Given the description of an element on the screen output the (x, y) to click on. 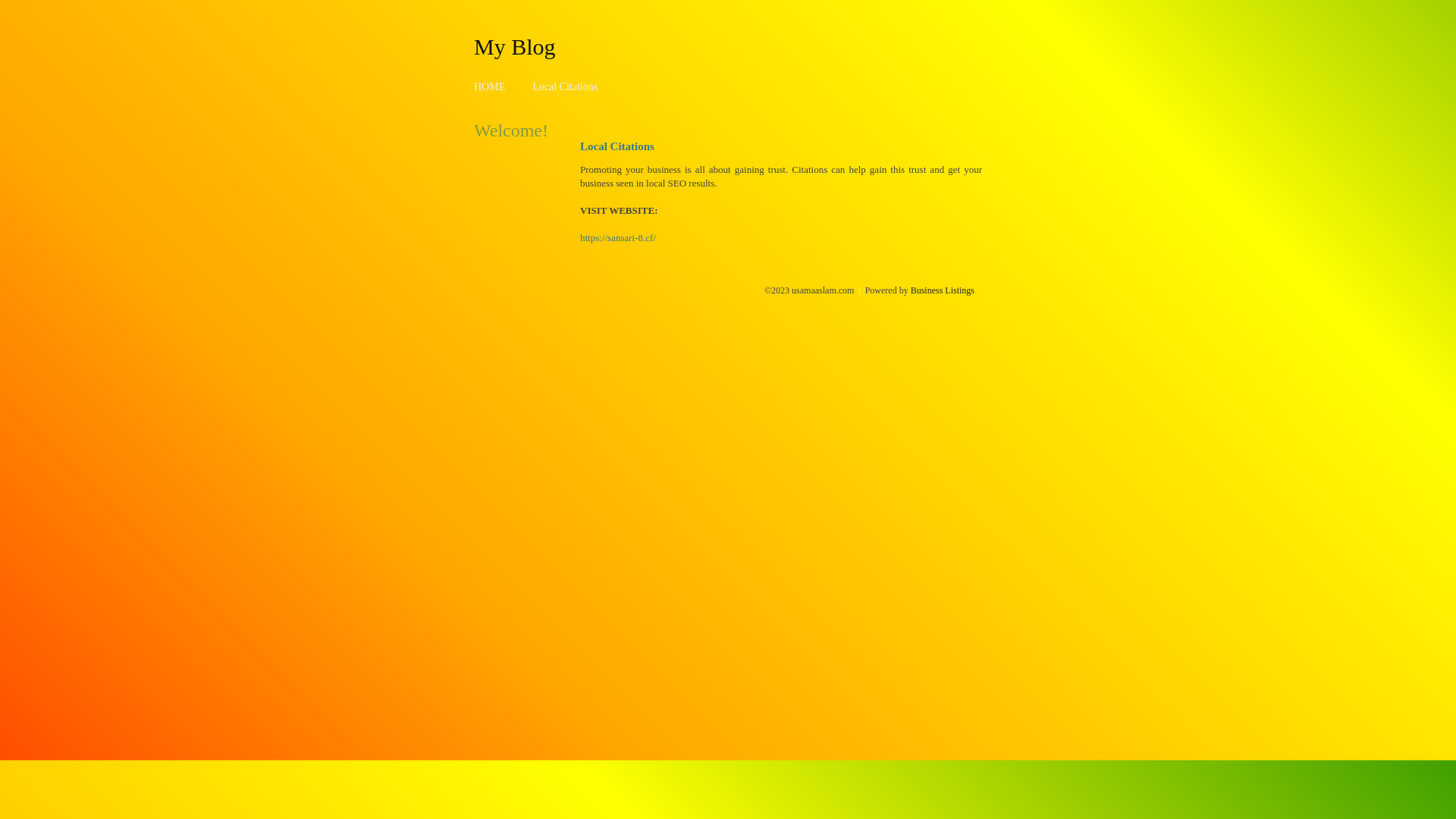
HOME Element type: text (489, 86)
https://sansari-8.cf/ Element type: text (617, 237)
Local Citations Element type: text (564, 86)
My Blog Element type: text (514, 46)
Business Listings Element type: text (942, 290)
